Given the description of an element on the screen output the (x, y) to click on. 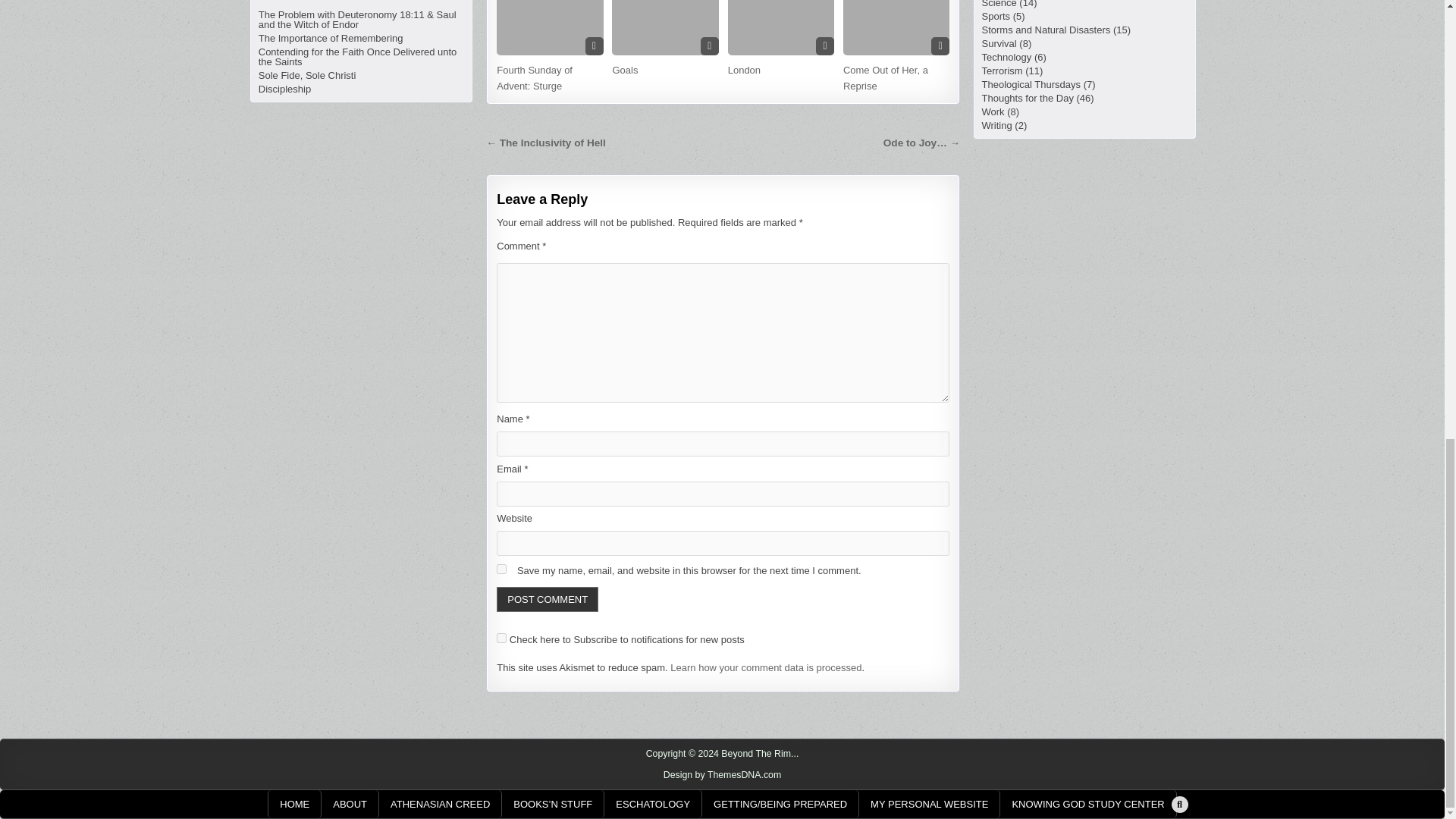
Permanent Link to Fourth Sunday of Advent: Sturge (549, 27)
Goals (624, 70)
Fourth Sunday of Advent: Sturge (534, 77)
Post Comment (547, 599)
1 (501, 637)
yes (501, 569)
